Given the description of an element on the screen output the (x, y) to click on. 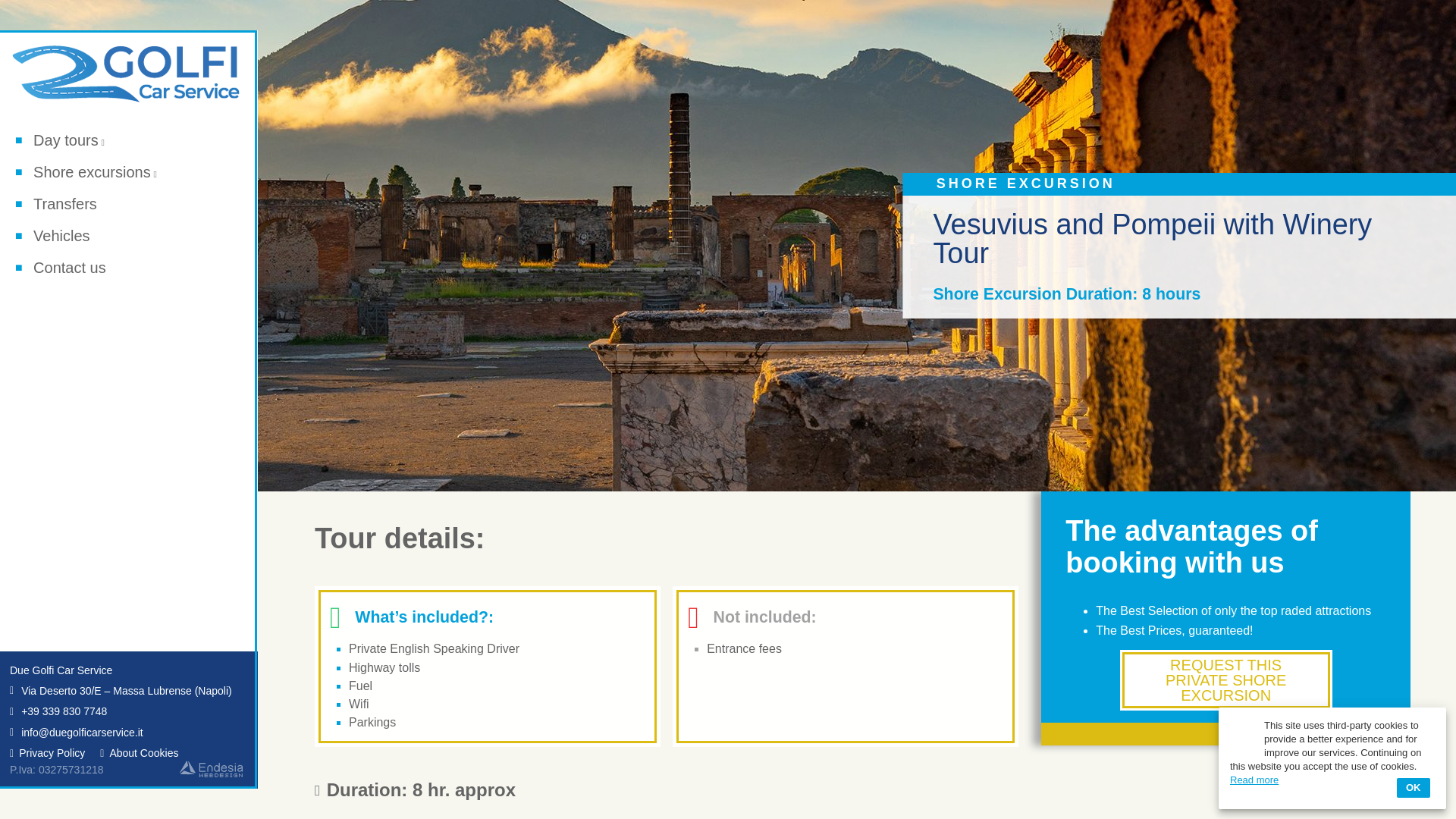
Shore excursions (85, 173)
Transfers (55, 204)
Due Golfi Car Service (61, 669)
Contact us (60, 268)
Read more (1254, 780)
Vehicles (52, 236)
REQUEST THIS PRIVATE SHORE EXCURSION (1225, 680)
Day tours (59, 141)
About Cookies (138, 752)
OK (1412, 787)
Endesia Web agency a Napoli e Sorrento (211, 768)
Privacy Policy (47, 752)
